Given the description of an element on the screen output the (x, y) to click on. 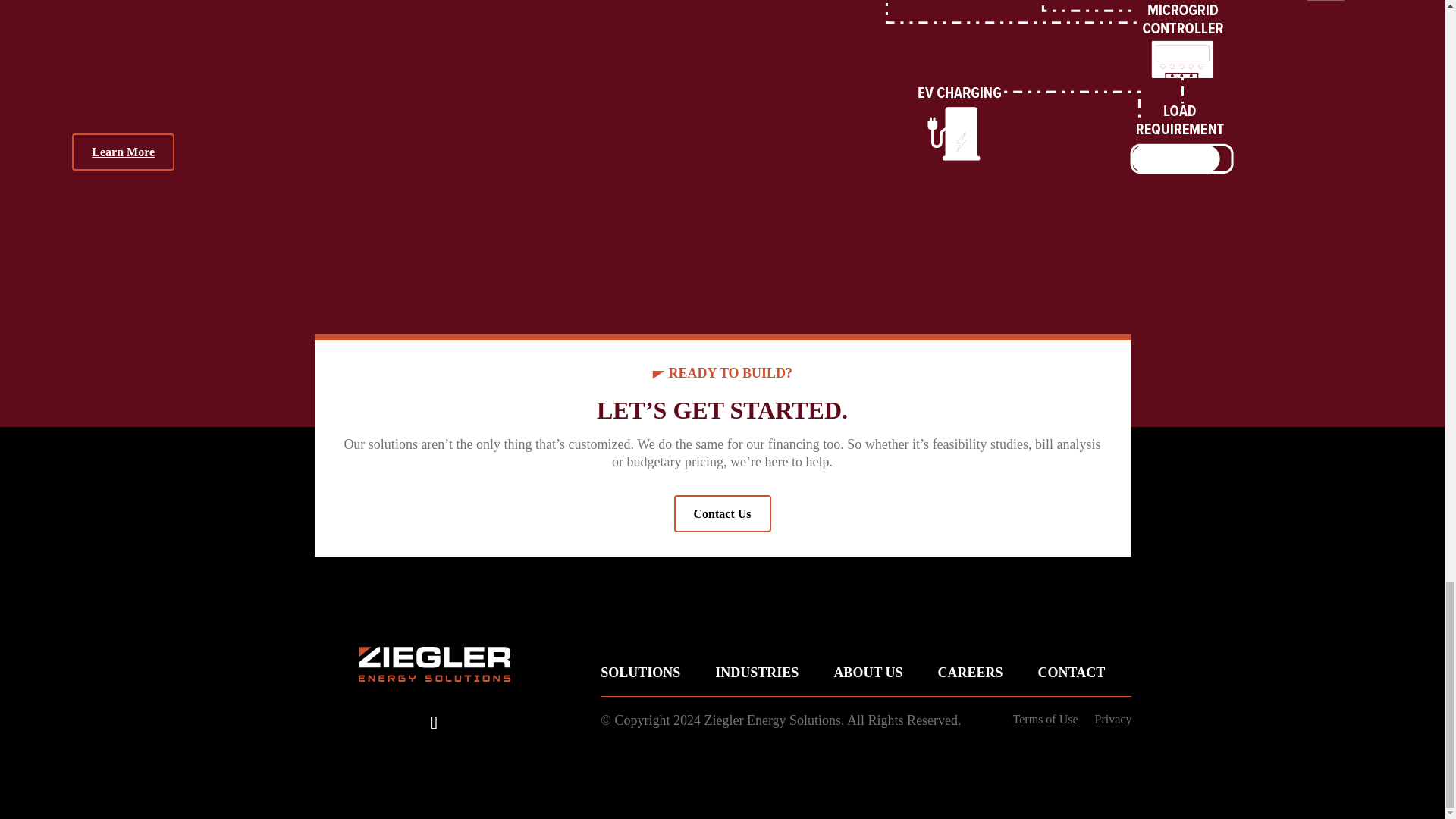
ABOUT US (867, 672)
Follow on LinkedIn (434, 722)
INDUSTRIES (755, 672)
CONTACT (1071, 672)
Contact Us (721, 513)
Learn More (122, 151)
SOLUTIONS (639, 672)
CAREERS (970, 672)
ziegler-energy-logo-reverse (434, 664)
